Given the description of an element on the screen output the (x, y) to click on. 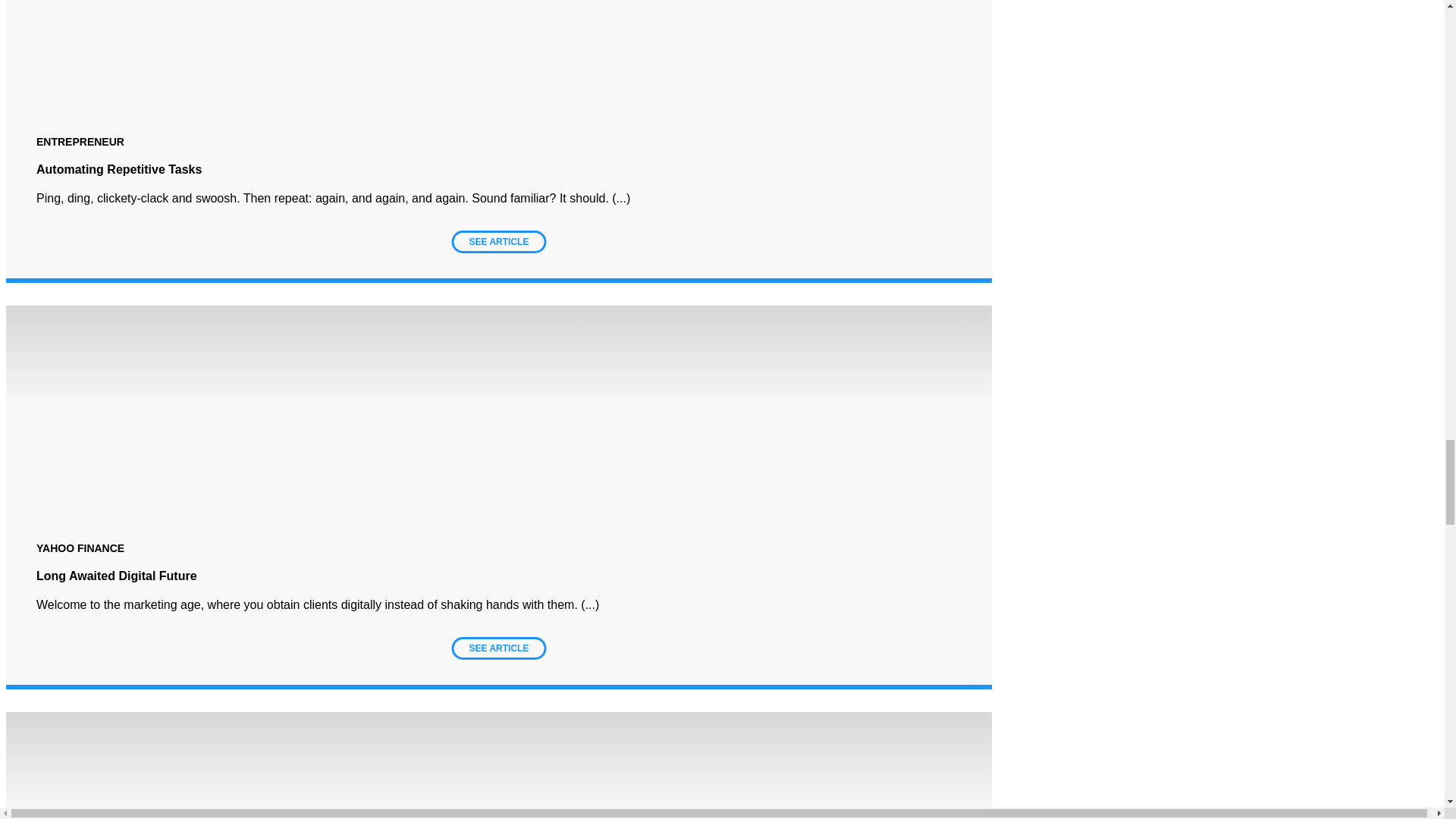
SEE ARTICLE (499, 241)
SEE ARTICLE (499, 648)
